Given the description of an element on the screen output the (x, y) to click on. 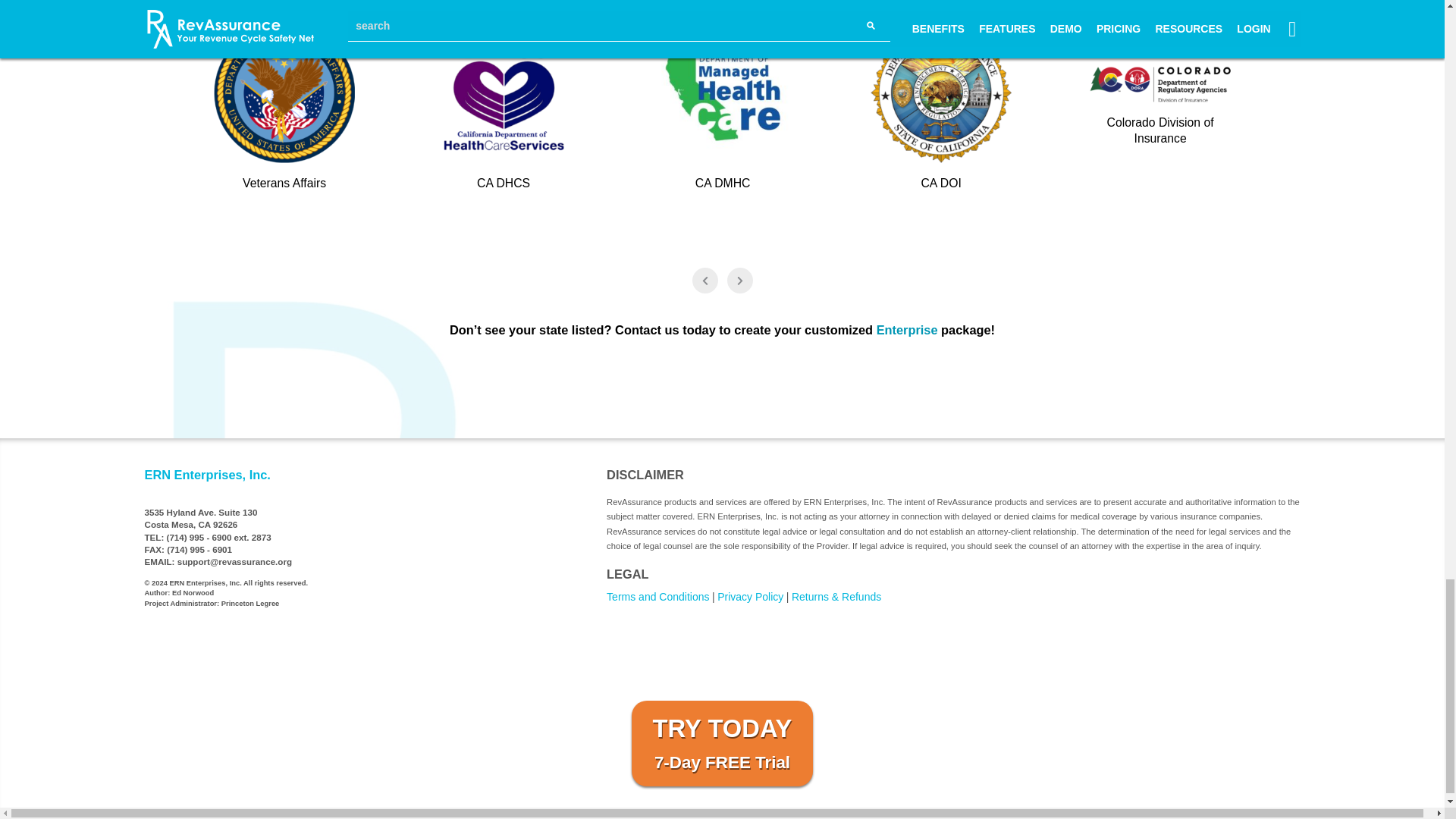
Terms and Conditions (658, 596)
Enterprise (906, 329)
Privacy Policy (750, 596)
Veterans Affairs (307, 115)
